Given the description of an element on the screen output the (x, y) to click on. 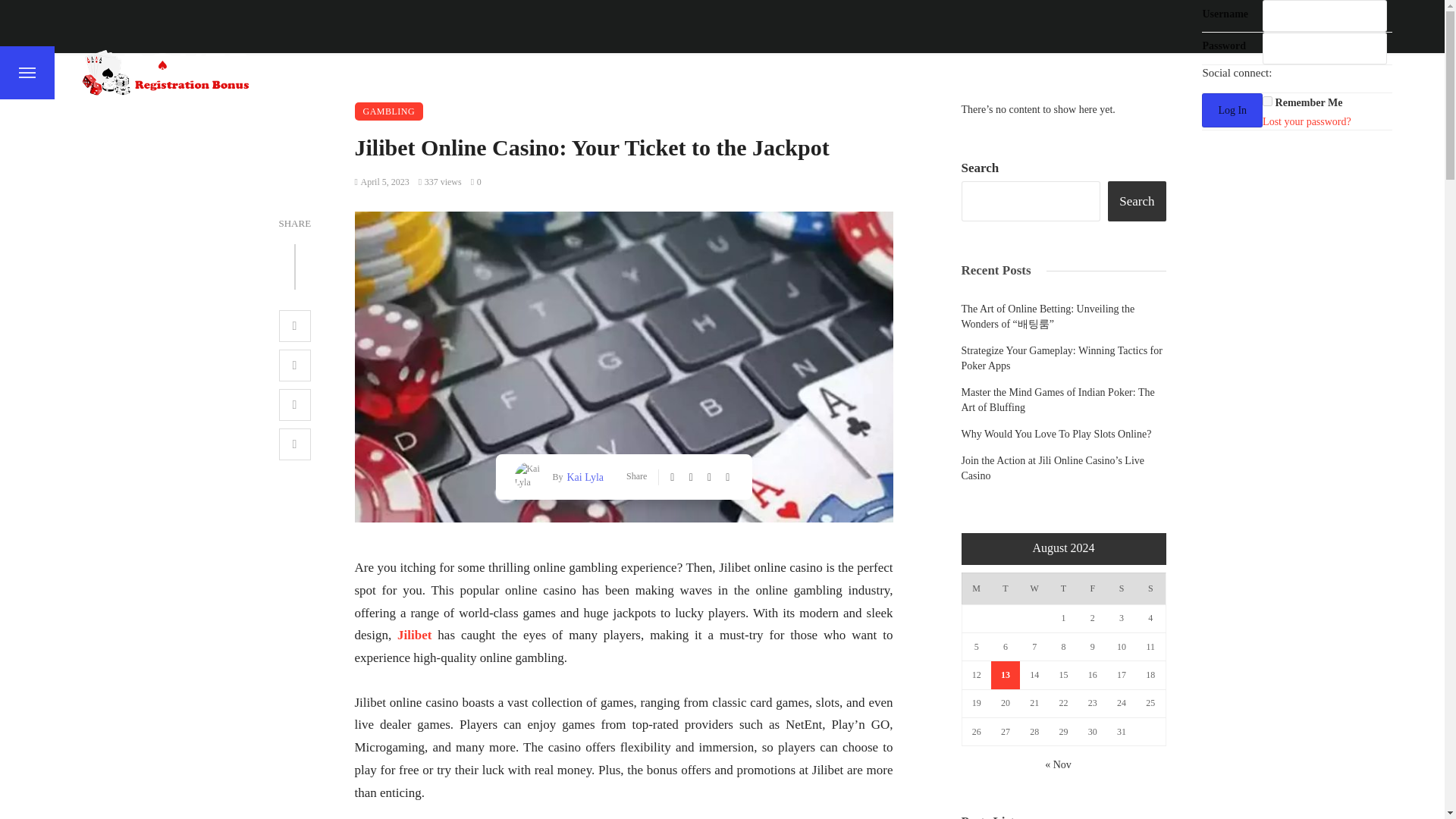
CASINO (705, 72)
BINGO (530, 72)
ONLINE POKER (984, 72)
forever (1267, 101)
Log In (1232, 110)
Log In (1232, 110)
April 5, 2023 at 4:25 am (382, 181)
BLACKJACK (616, 72)
BETTING (452, 72)
GAMBLING (389, 111)
